Given the description of an element on the screen output the (x, y) to click on. 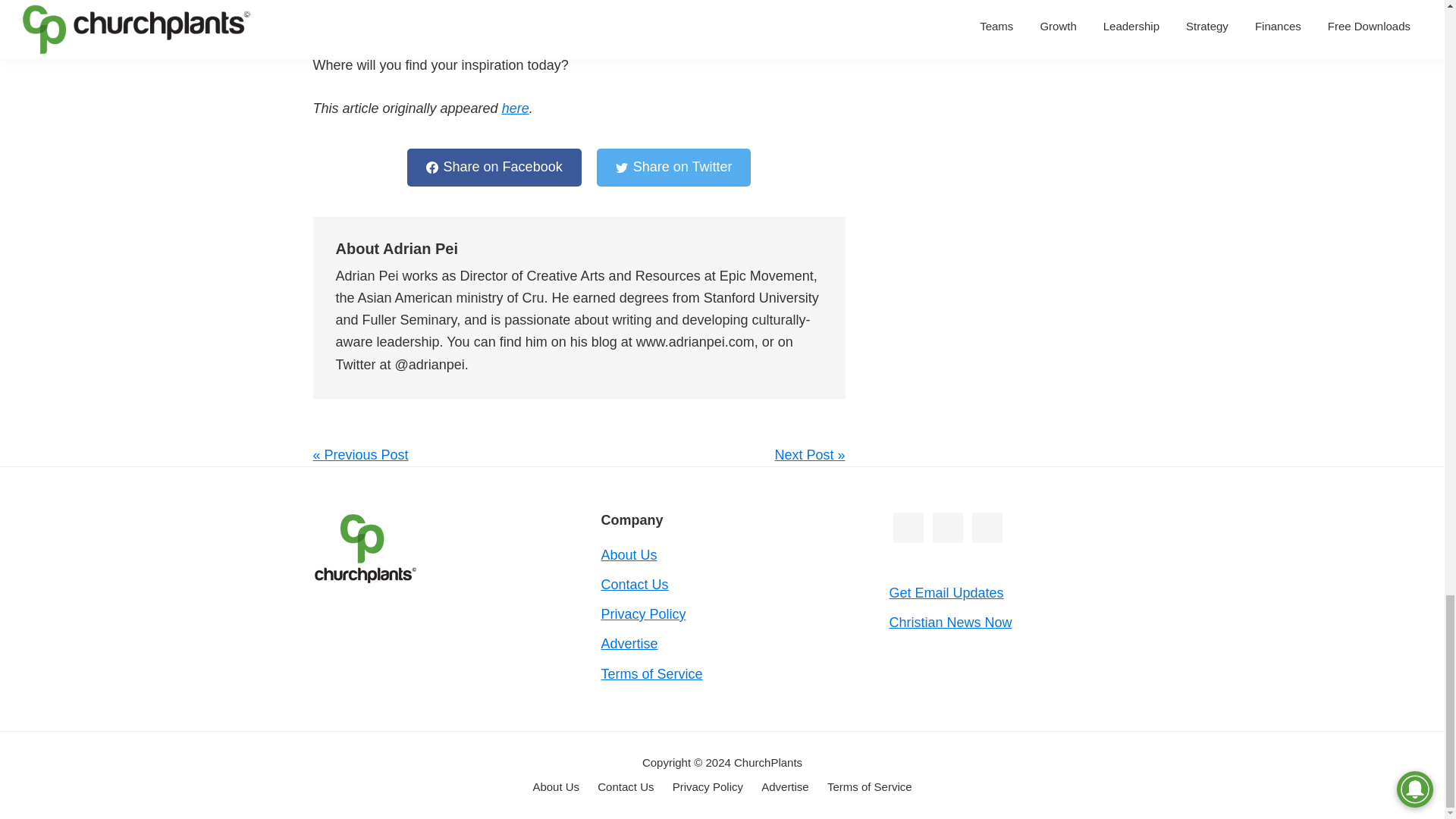
Share on Twitter (673, 166)
here (515, 108)
Share on Facebook (493, 166)
Privacy Policy (707, 787)
Contact Us (624, 787)
About Us (555, 787)
Advertise (628, 643)
About Us (627, 554)
Contact Us (633, 584)
Christian News Now (949, 622)
Privacy Policy (642, 613)
Get Email Updates (945, 592)
Advertise (785, 787)
Terms of Service (650, 673)
Share This on Facebook (493, 166)
